Given the description of an element on the screen output the (x, y) to click on. 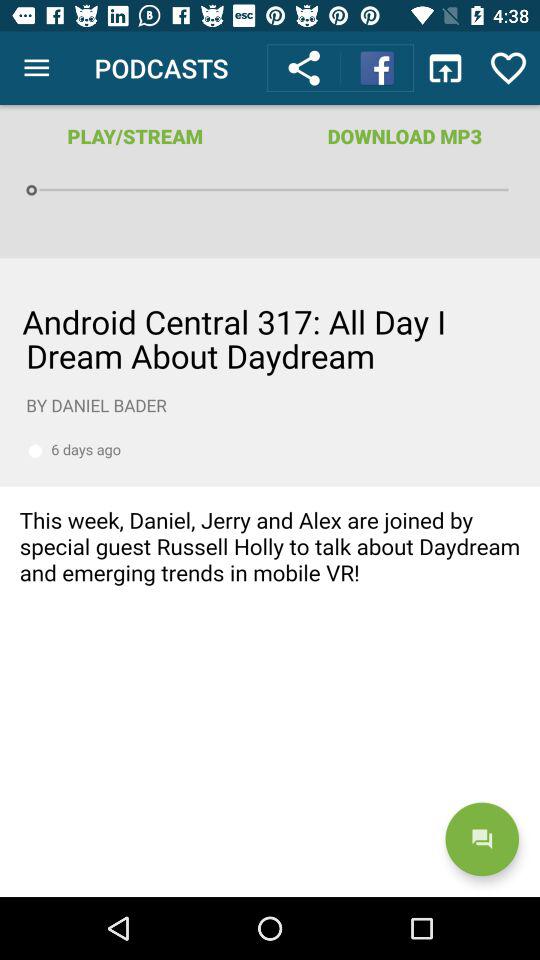
highlight full content (270, 577)
